Given the description of an element on the screen output the (x, y) to click on. 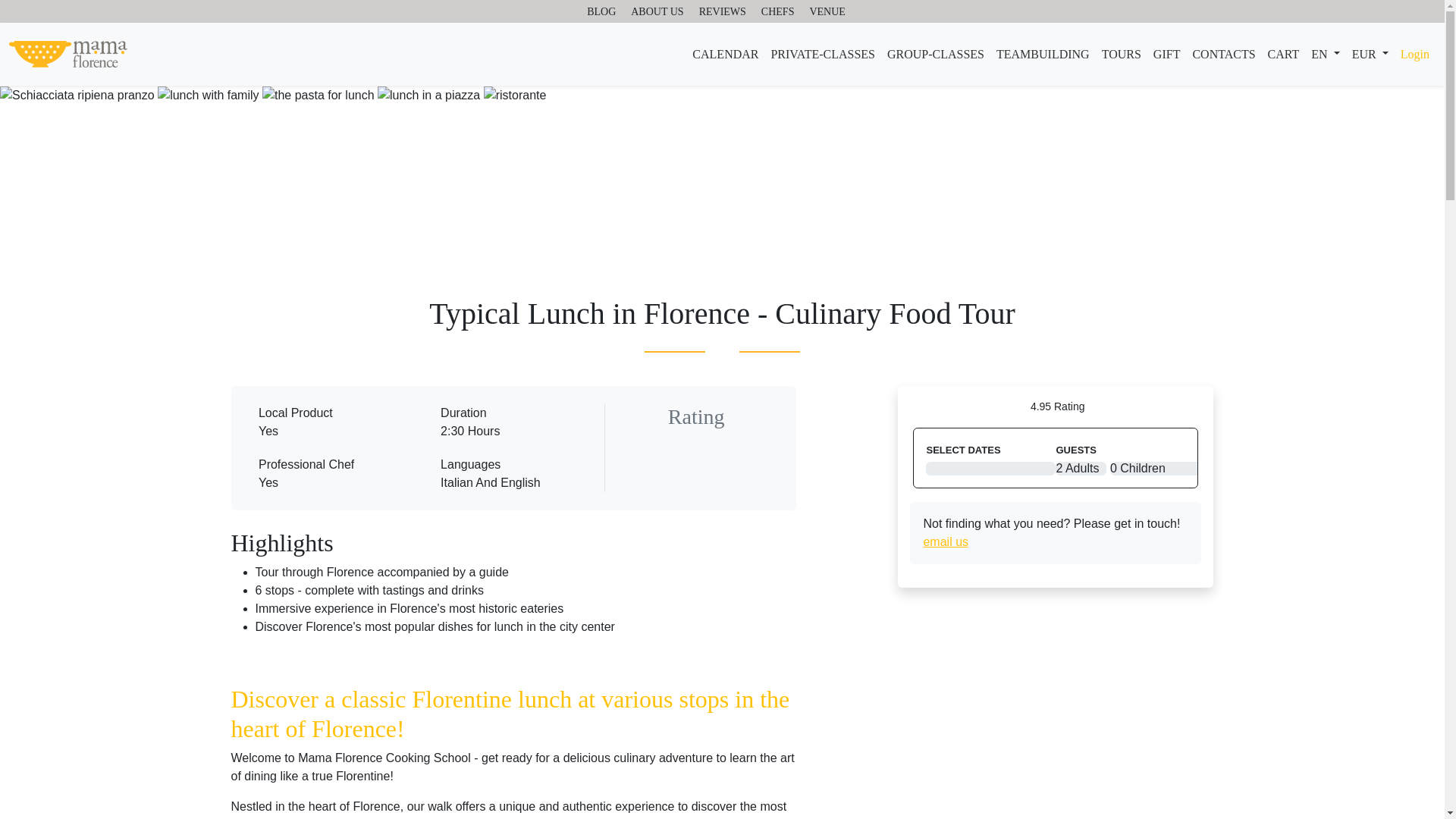
CART (1284, 54)
TEAMBUILDING (1043, 54)
CHEFS (777, 11)
VENUE (826, 11)
CONTACTS (1223, 54)
ABOUT US (656, 11)
CALENDAR (724, 54)
PRIVATE-CLASSES (822, 54)
GIFT (1166, 54)
EUR (1369, 54)
Login (1414, 54)
REVIEWS (721, 11)
GROUP-CLASSES (935, 54)
TOURS (1121, 54)
BLOG (600, 11)
